Given the description of an element on the screen output the (x, y) to click on. 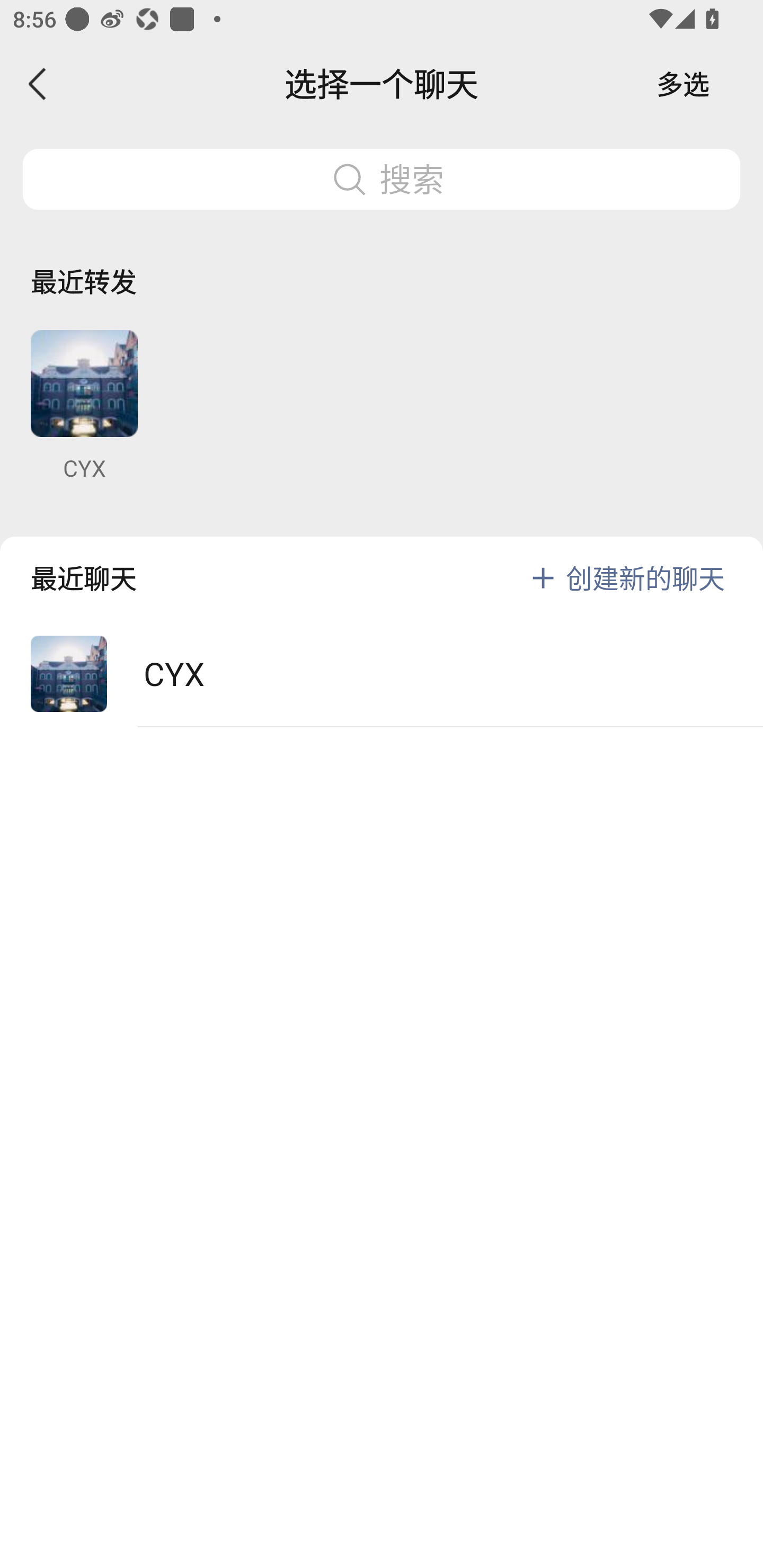
返回 (38, 83)
多选 (683, 83)
CYX (84, 405)
创建新的聊天 (645, 577)
CYX (381, 673)
